Given the description of an element on the screen output the (x, y) to click on. 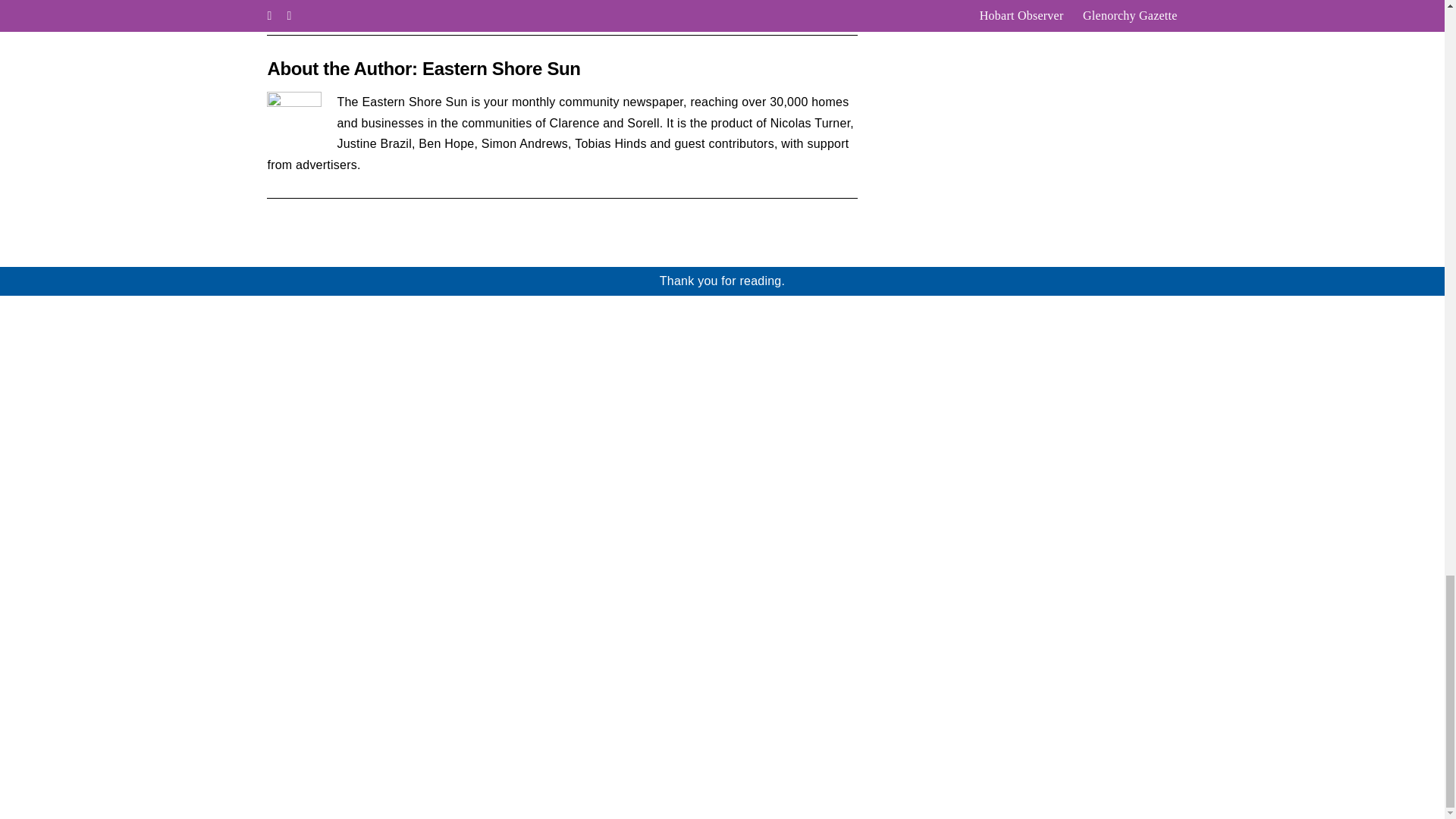
Instagram (1174, 773)
Email (847, 10)
Eastern Shore Sun (501, 68)
Twitter (826, 10)
Facebook (1153, 773)
Facebook (806, 10)
